Given the description of an element on the screen output the (x, y) to click on. 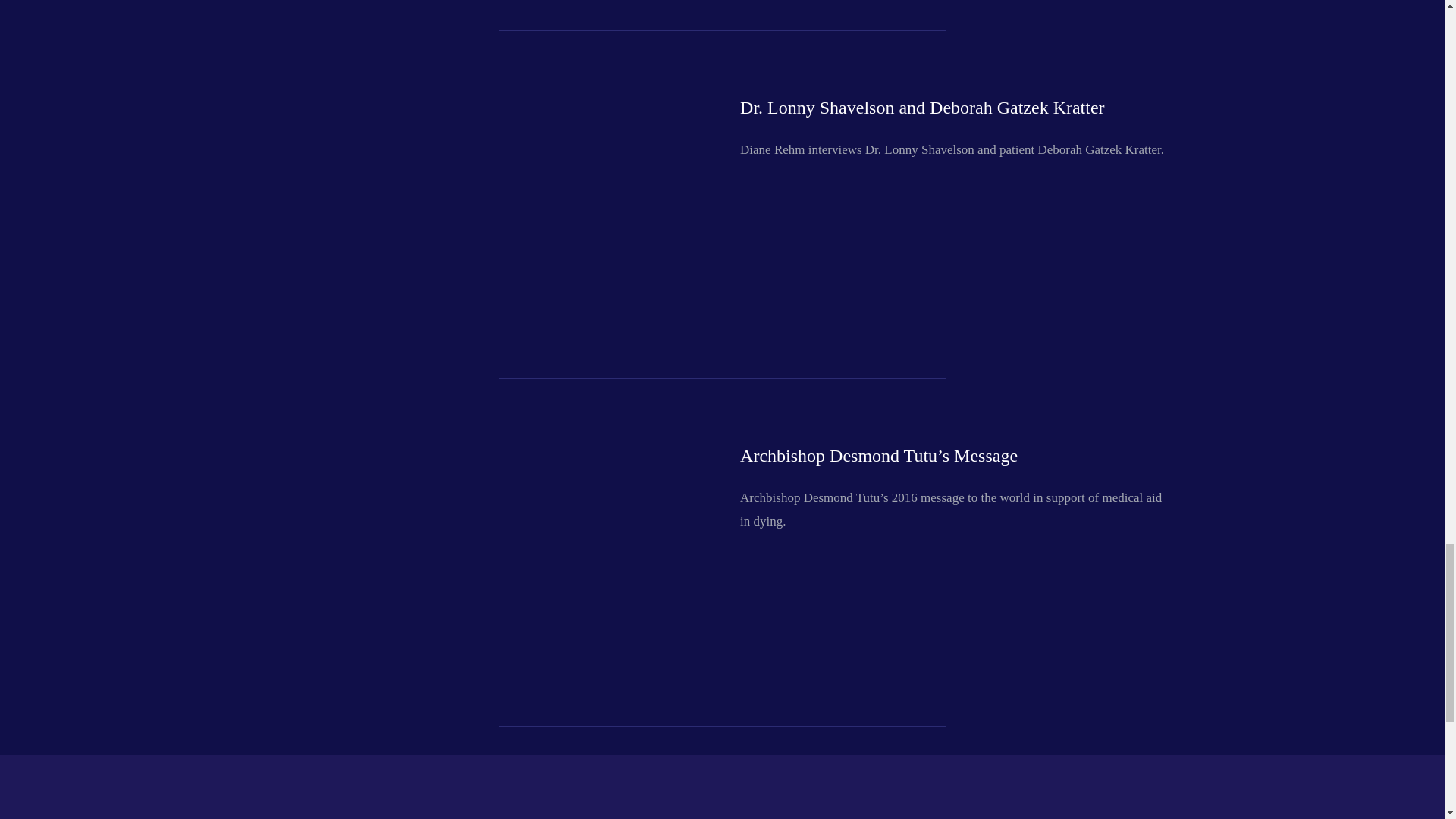
Vimeo video player 6 (502, 130)
Vimeo video player 7 (502, 471)
Vimeo video player 8 (502, 751)
